Given the description of an element on the screen output the (x, y) to click on. 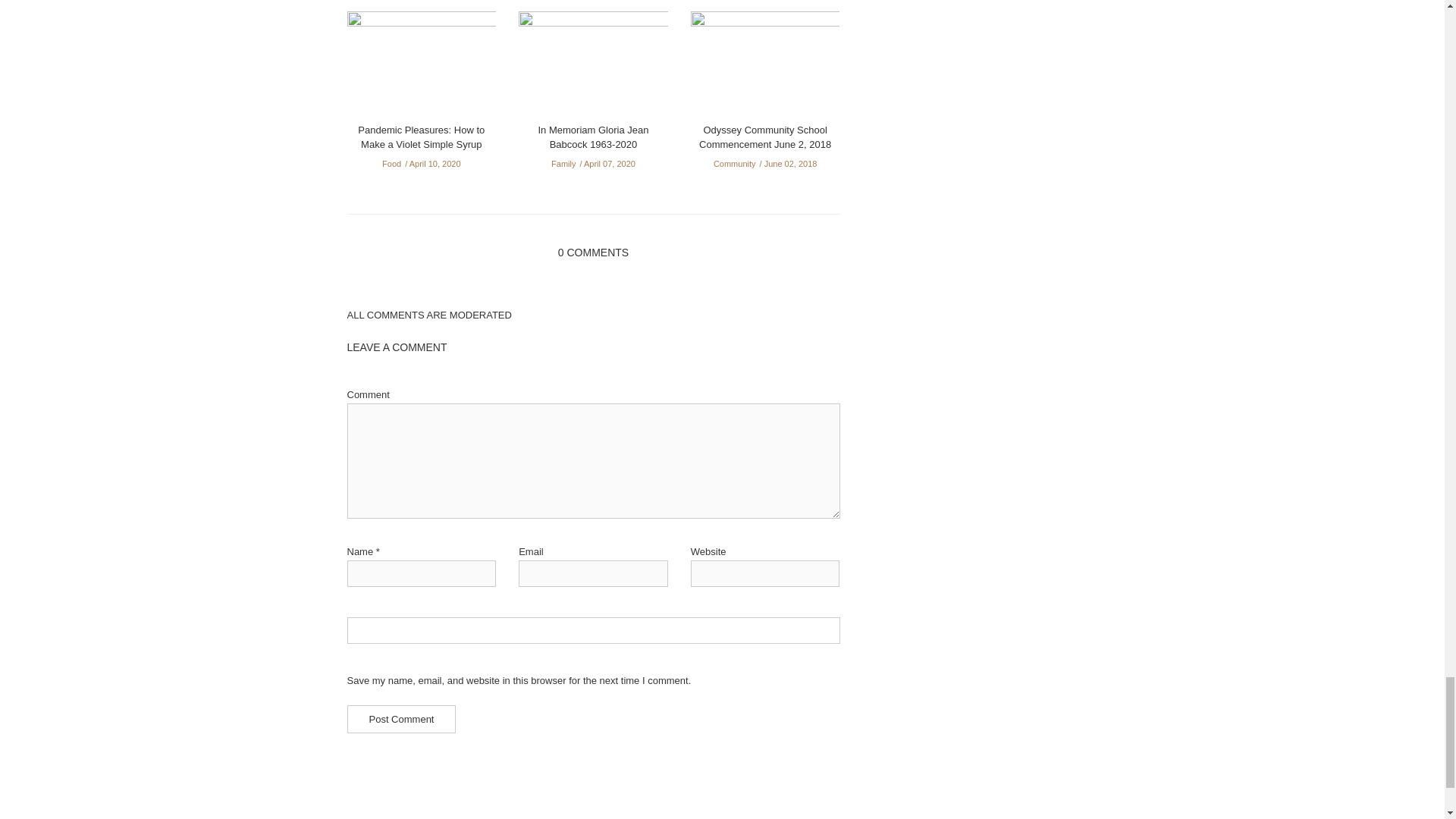
Pandemic Pleasures: How to Make a Violet Simple Syrup (421, 66)
yes (593, 630)
Post Comment (402, 719)
In Memoriam Gloria Jean Babcock 1963-2020 (593, 66)
Odyssey Community School Commencement June 2, 2018 (765, 66)
